Given the description of an element on the screen output the (x, y) to click on. 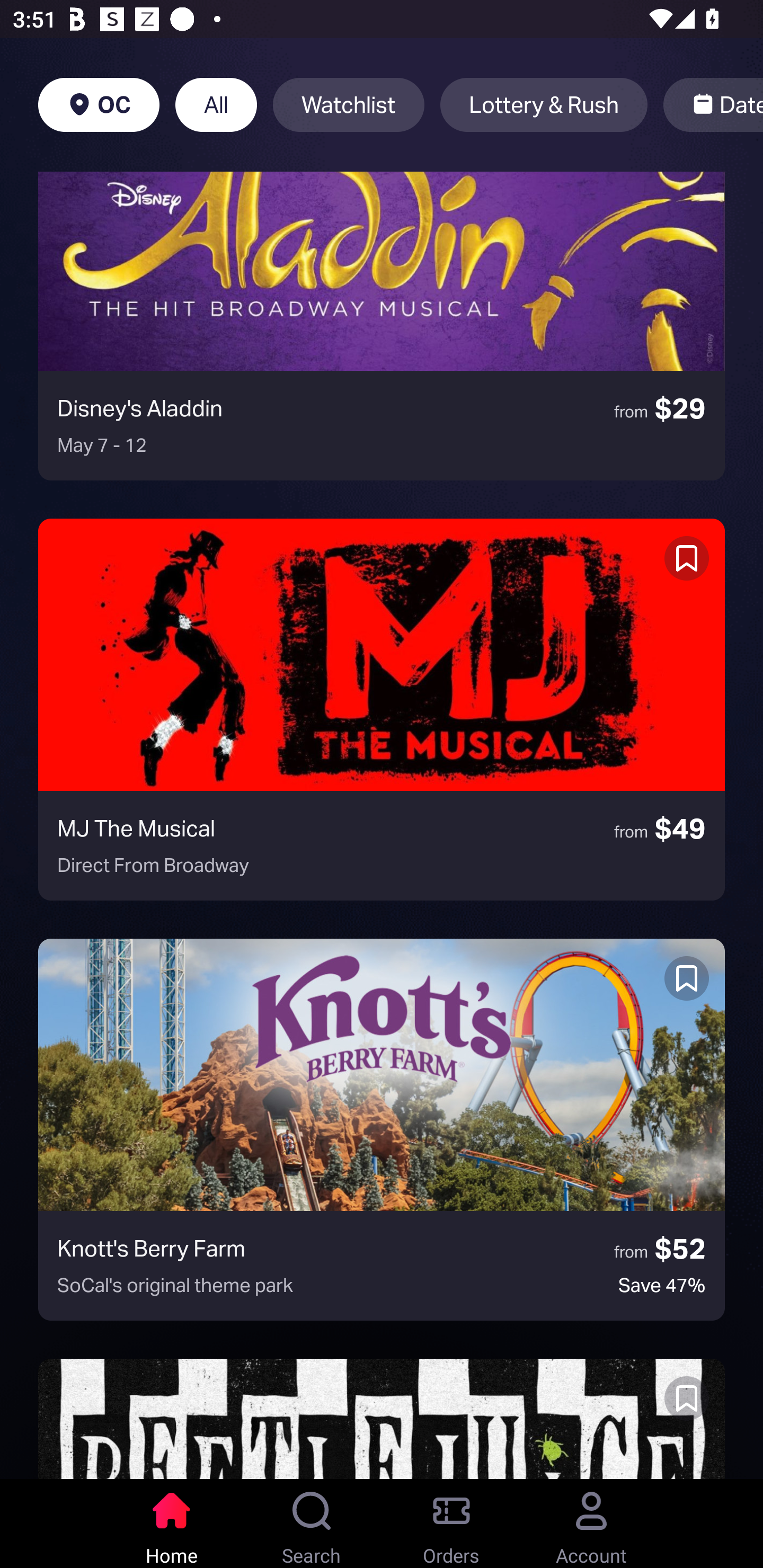
OC (98, 104)
All (216, 104)
Watchlist (348, 104)
Lottery & Rush (543, 104)
Disney's Aladdin from $29 May 7 - 12 (381, 324)
MJ The Musical from $49 Direct From Broadway (381, 709)
Search (311, 1523)
Orders (451, 1523)
Account (591, 1523)
